Given the description of an element on the screen output the (x, y) to click on. 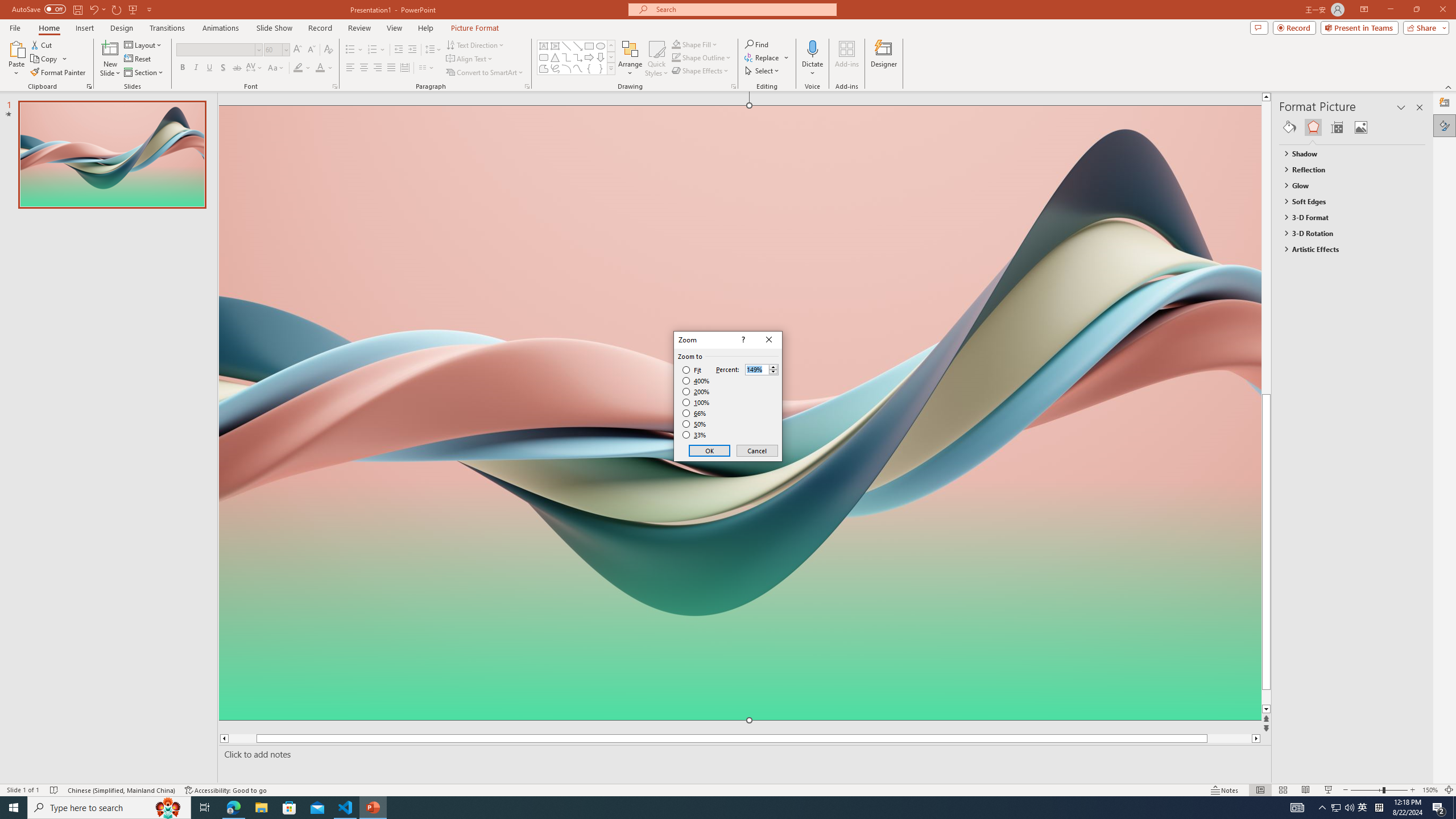
Curve (577, 68)
400% (696, 380)
Shadow (223, 67)
Notification Chevron (1322, 807)
Q2790: 100% (1349, 807)
Connector: Elbow (566, 57)
Vertical Text Box (554, 45)
